Given the description of an element on the screen output the (x, y) to click on. 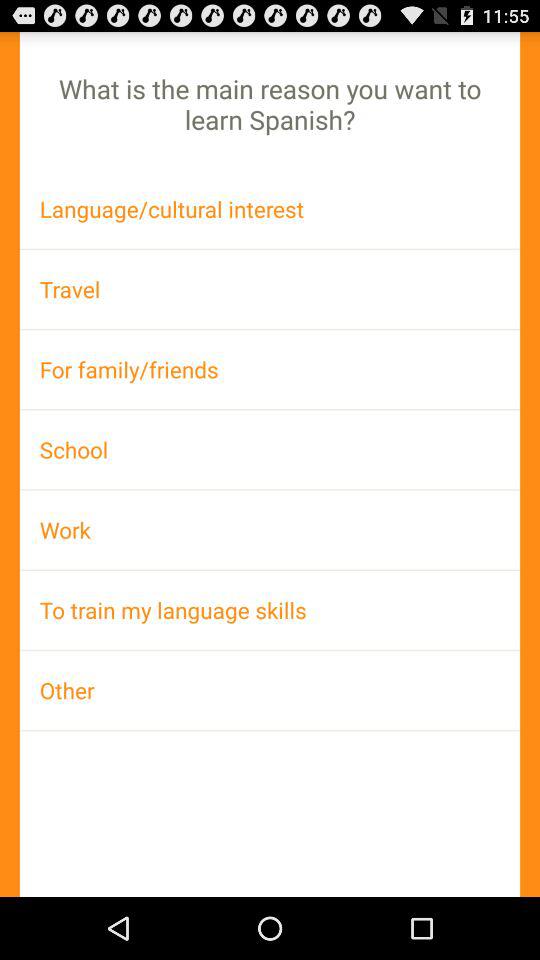
swipe until to train my item (269, 609)
